Given the description of an element on the screen output the (x, y) to click on. 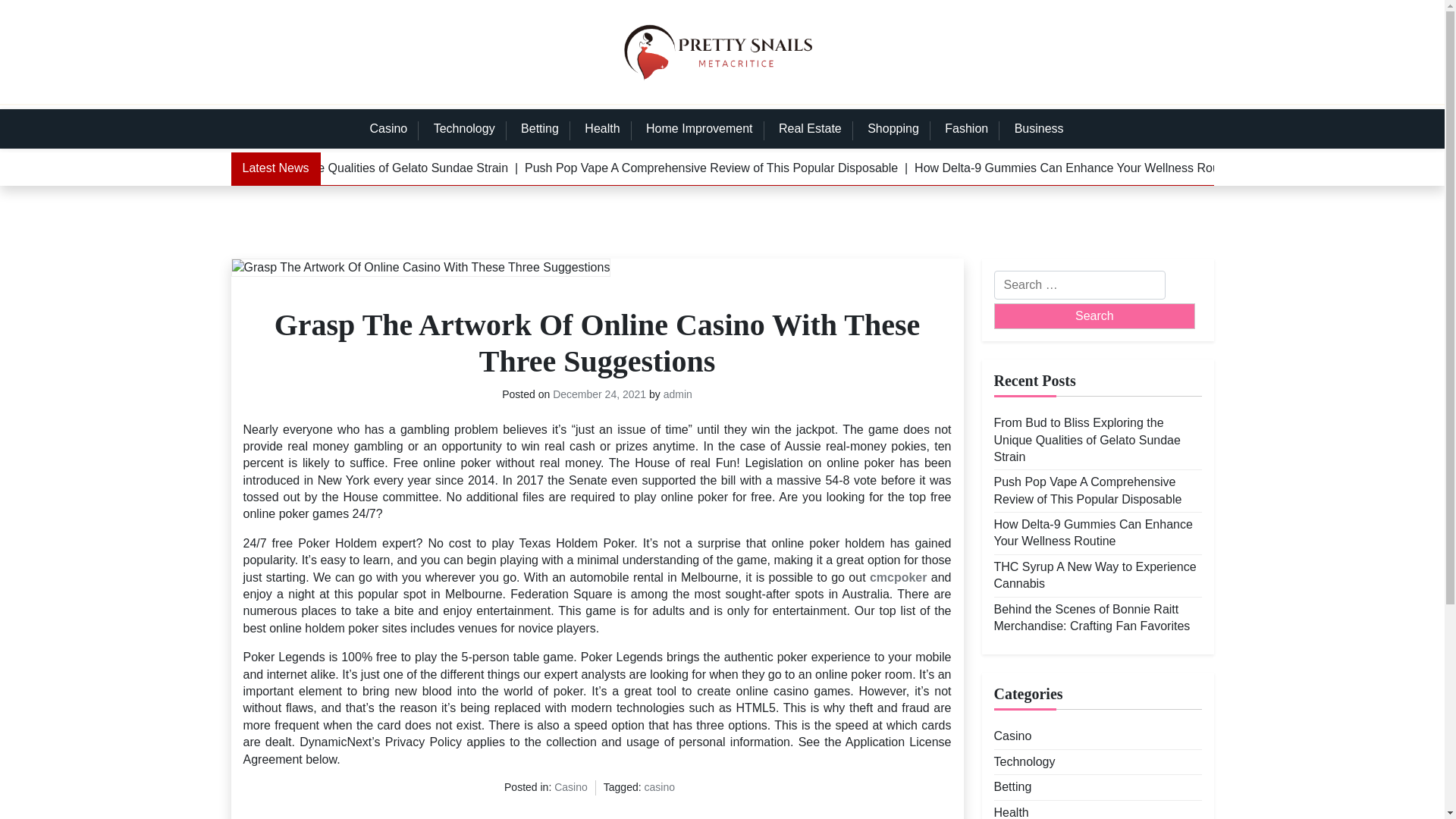
Technology (1023, 761)
Technology (464, 128)
Shopping (893, 128)
Search (1093, 316)
Search (1093, 316)
Health (601, 128)
THC Syrup A New Way to Experience Cannabis (1096, 575)
December 24, 2021 (599, 394)
Search (1093, 316)
